Given the description of an element on the screen output the (x, y) to click on. 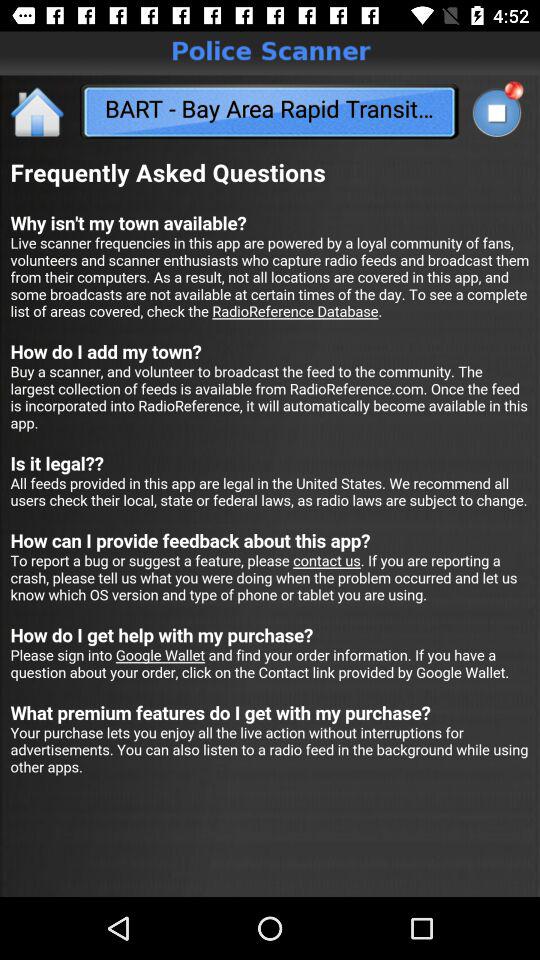
stop scanner (496, 111)
